Given the description of an element on the screen output the (x, y) to click on. 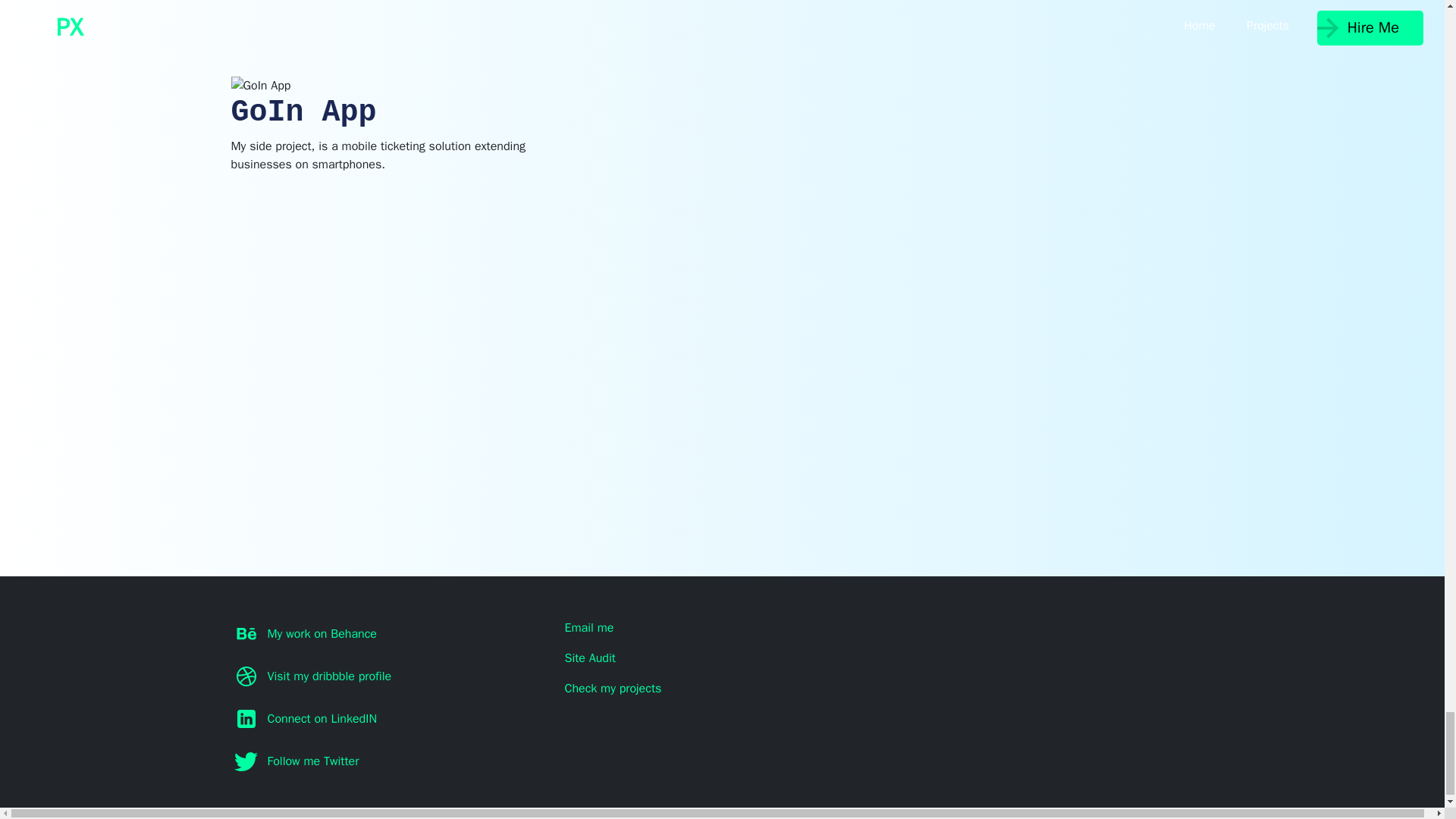
Check my projects (721, 688)
Email me (721, 627)
Site Audit (721, 658)
My work on Behance (388, 633)
Follow me Twitter (388, 760)
Visit my dribbble profile (388, 676)
Connect on LinkedIN (388, 719)
